Given the description of an element on the screen output the (x, y) to click on. 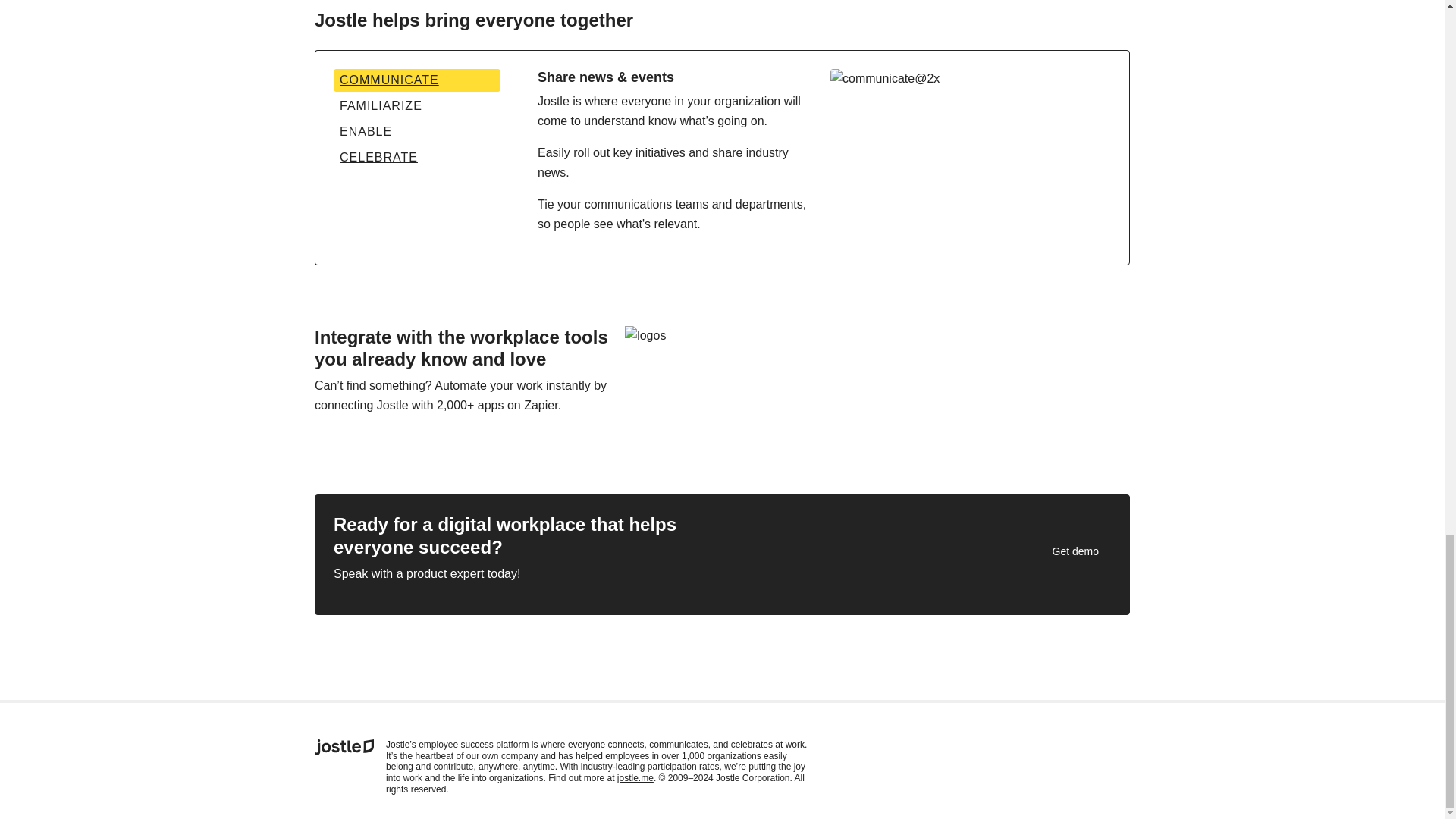
Get demo (1075, 551)
COMMUNICATE (416, 79)
jostle.me (635, 777)
CELEBRATE (416, 157)
FAMILIARIZE (416, 106)
ENABLE (416, 131)
